Given the description of an element on the screen output the (x, y) to click on. 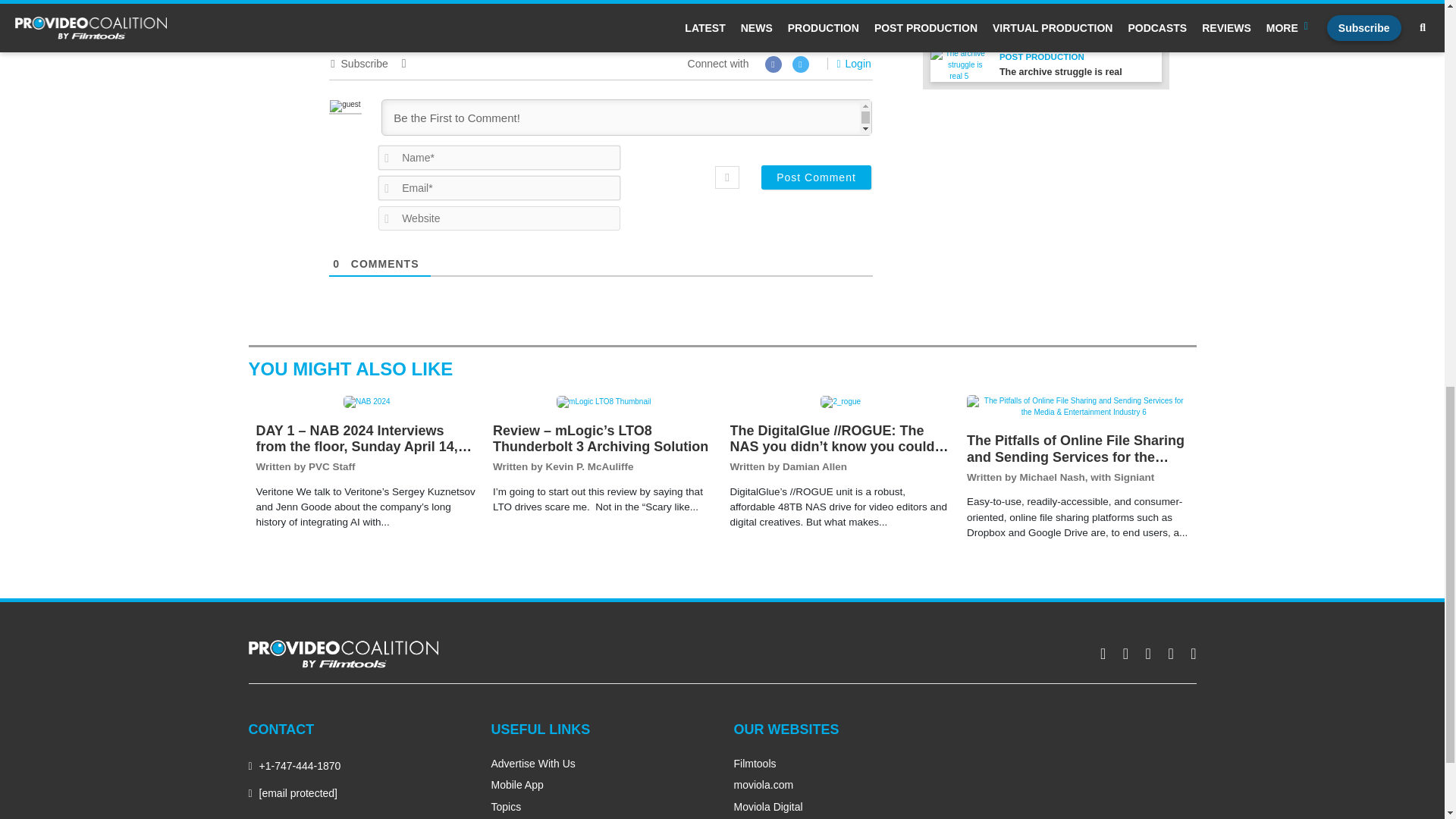
Post Comment (815, 177)
